Given the description of an element on the screen output the (x, y) to click on. 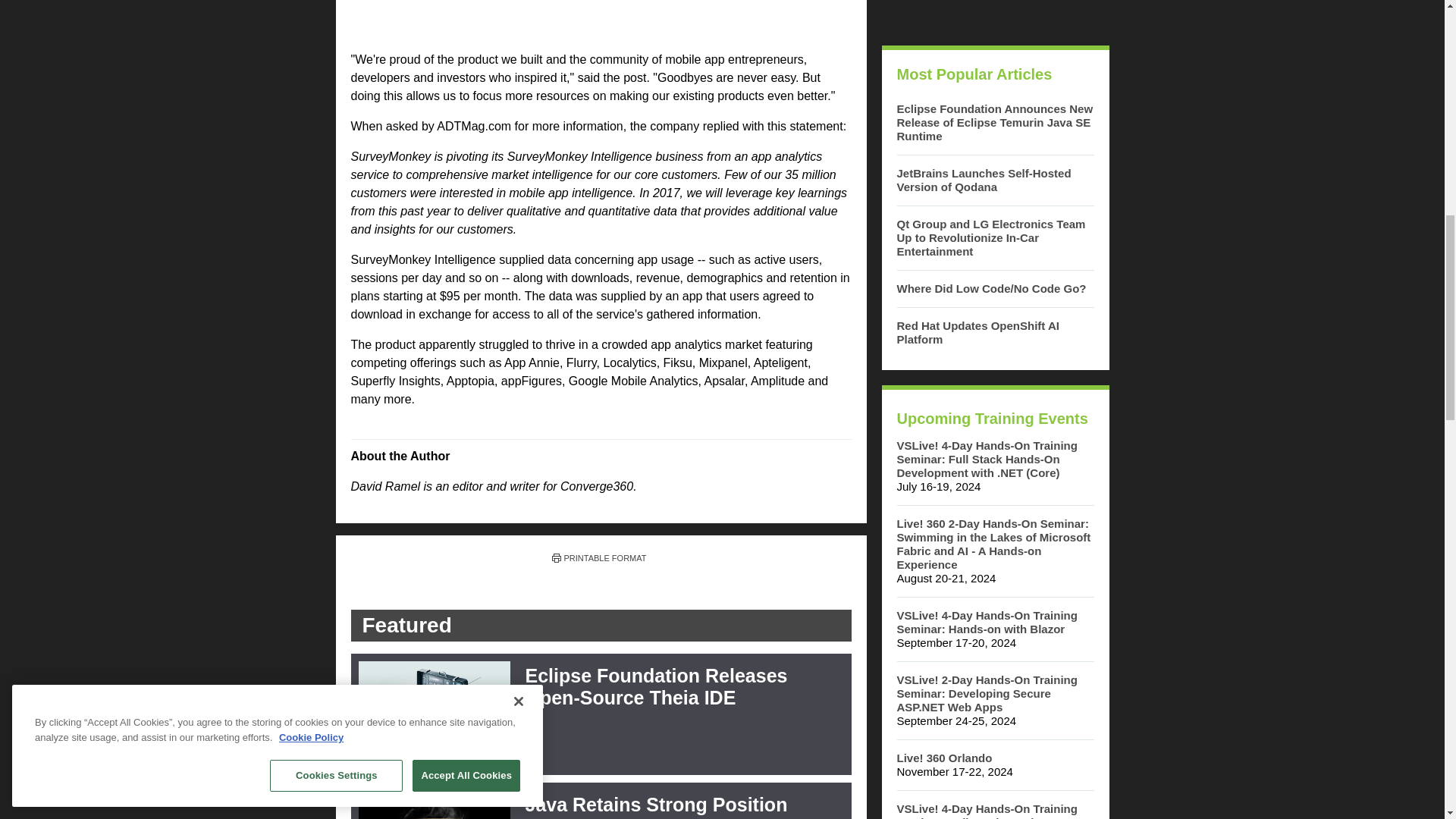
Eclipse Foundation Releases Open-Source Theia IDE (655, 686)
3rd party ad content (994, 15)
PRINTABLE FORMAT (598, 557)
3rd party ad content (600, 19)
